Given the description of an element on the screen output the (x, y) to click on. 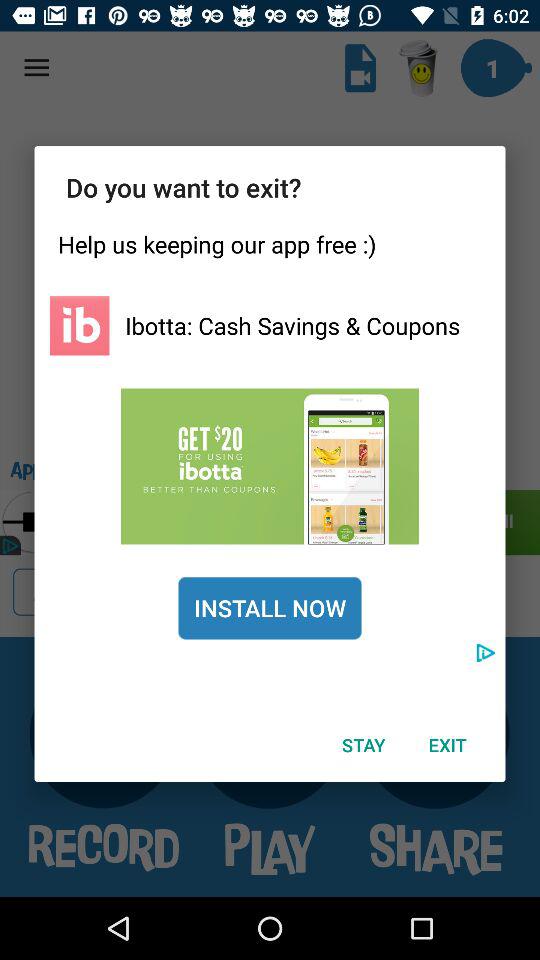
check discount code (269, 466)
